Given the description of an element on the screen output the (x, y) to click on. 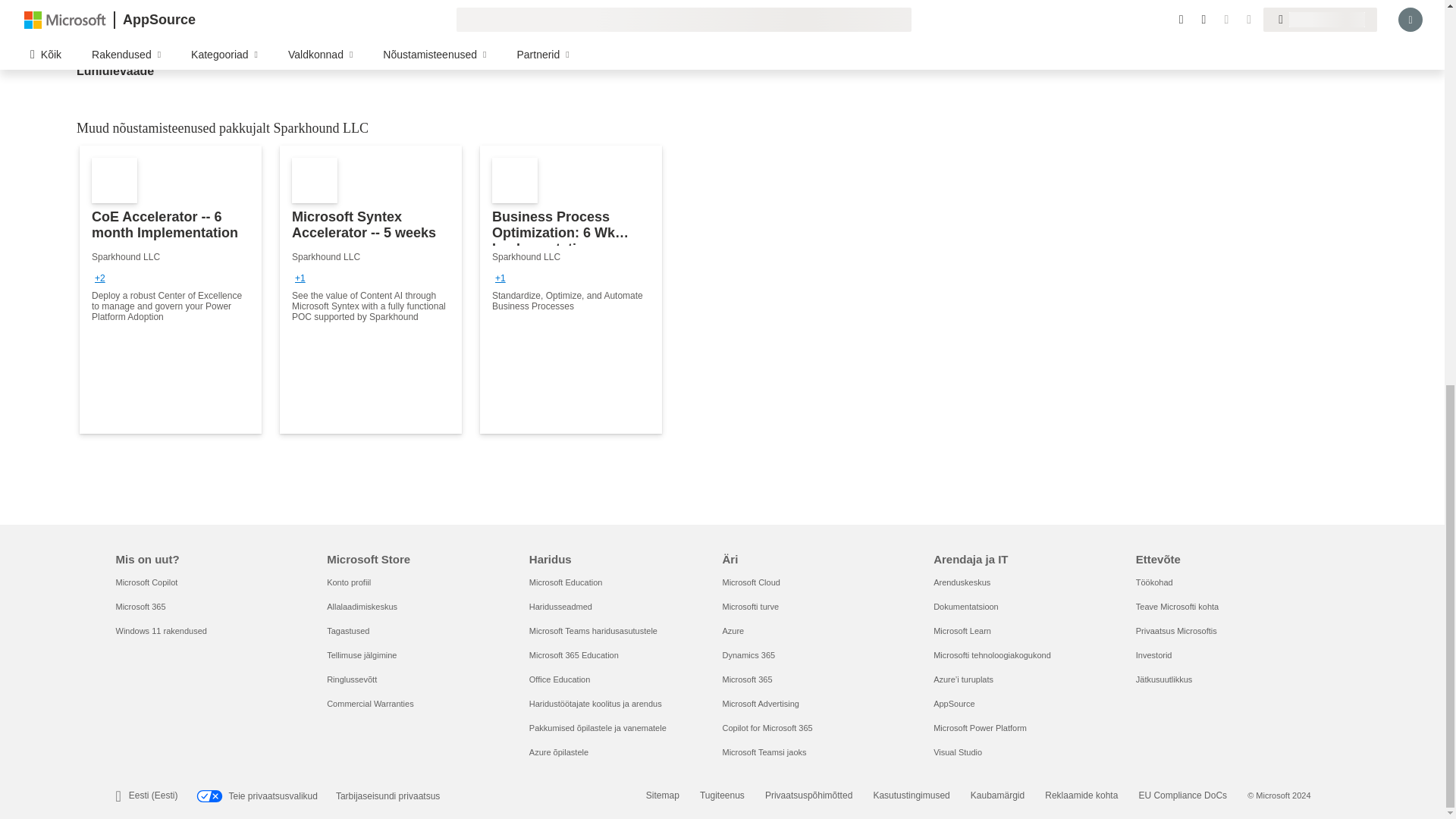
Microsoft Copilot (146, 582)
Microsoft Teams haridusasutustele (593, 630)
Microsoft Cloud (750, 582)
Konto profiil (348, 582)
Windows 11 rakendused (160, 630)
Office Education (560, 678)
Commercial Warranties (369, 703)
Haridusseadmed (560, 605)
Microsofti turve (750, 605)
Microsoft 365 Education (573, 655)
Microsoft 365 (140, 605)
Tagastused (347, 630)
Microsoft Education (565, 582)
Allalaadimiskeskus (361, 605)
